Given the description of an element on the screen output the (x, y) to click on. 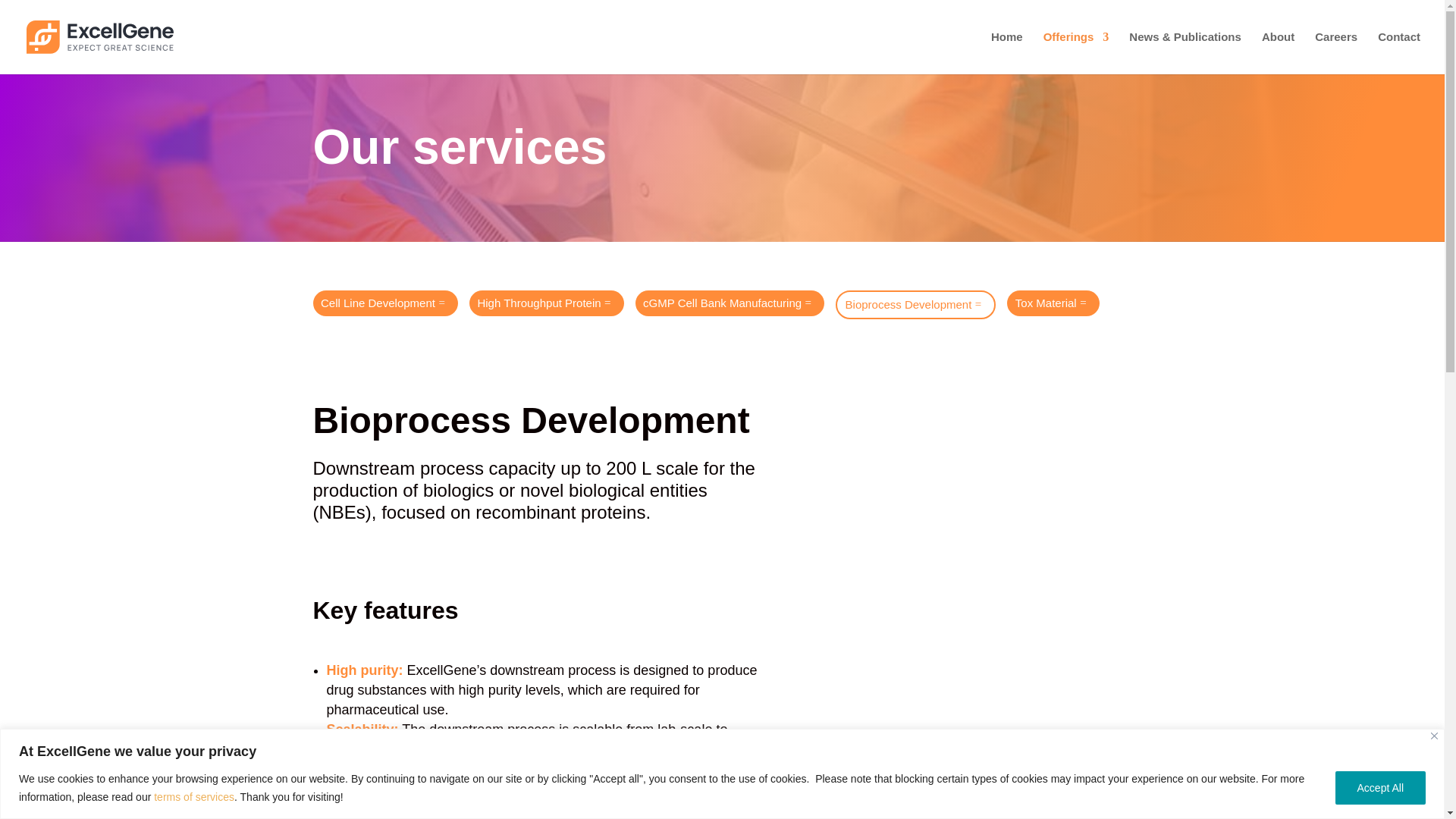
Contact (1399, 52)
terms of services (194, 796)
Careers (1335, 52)
Offerings (1076, 52)
Accept All (1380, 786)
